Given the description of an element on the screen output the (x, y) to click on. 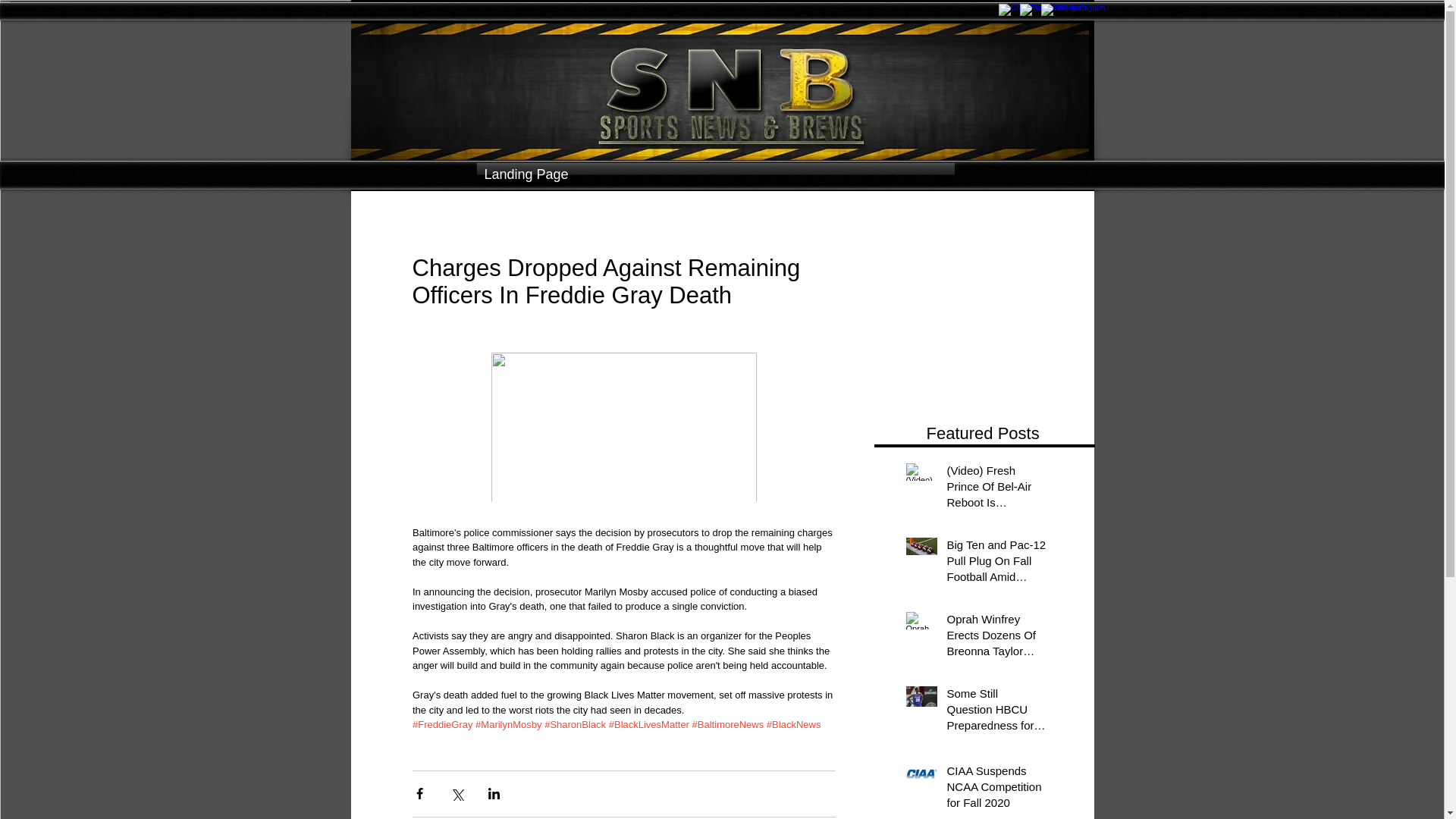
CIAA Suspends NCAA Competition for Fall 2020 (995, 789)
Big Ten and Pac-12 Pull Plug On Fall Football Amid Pandemic (995, 563)
Landing Page (714, 174)
Some Still Question HBCU Preparedness for Blue Chip Athletes (995, 712)
